Given the description of an element on the screen output the (x, y) to click on. 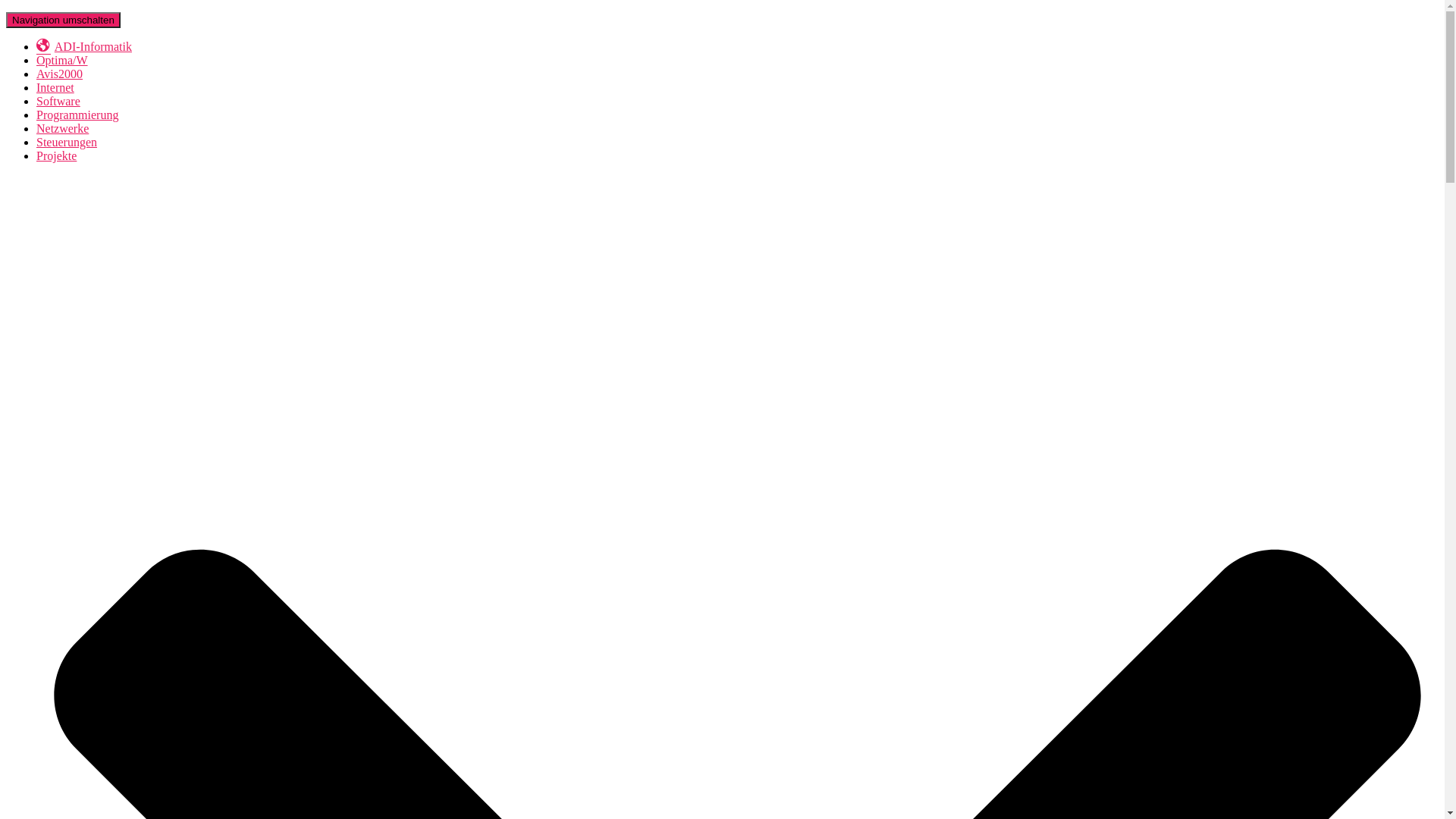
Software Element type: text (58, 100)
Avis2000 Element type: text (59, 73)
Steuerungen Element type: text (66, 141)
Programmierung Element type: text (77, 114)
Navigation umschalten Element type: text (63, 20)
Optima/W Element type: text (61, 59)
Netzwerke Element type: text (62, 128)
Internet Element type: text (55, 87)
ADI-Informatik Element type: text (83, 46)
